Given the description of an element on the screen output the (x, y) to click on. 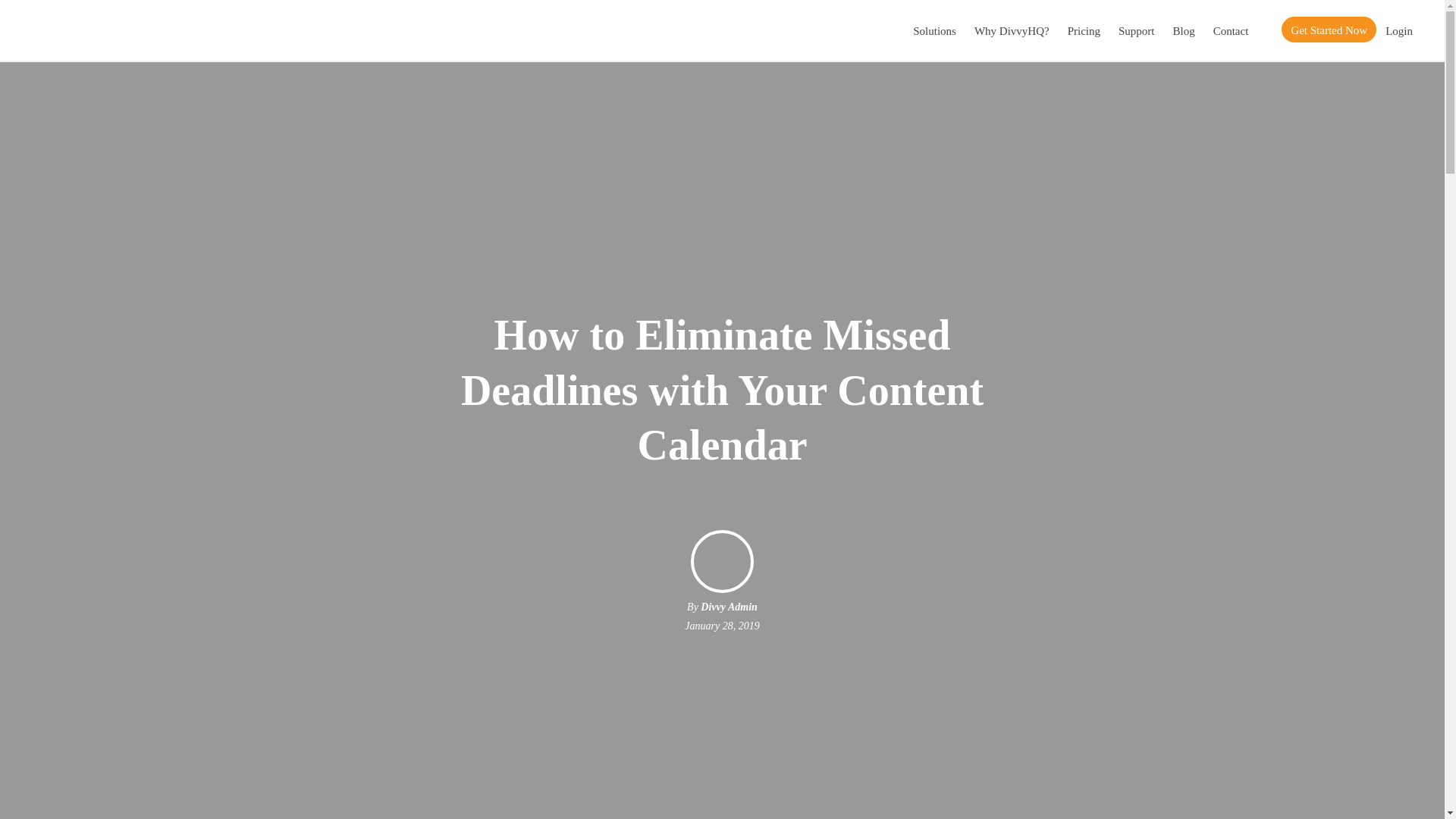
Divvy Admin (728, 606)
Why DivvyHQ? (1011, 31)
Solutions (934, 31)
Login (1398, 31)
Contact (1230, 31)
Blog (1183, 31)
Support (1136, 31)
Get Started Now (1328, 29)
Why DivvyHQ? (1011, 31)
Solutions (934, 31)
